Given the description of an element on the screen output the (x, y) to click on. 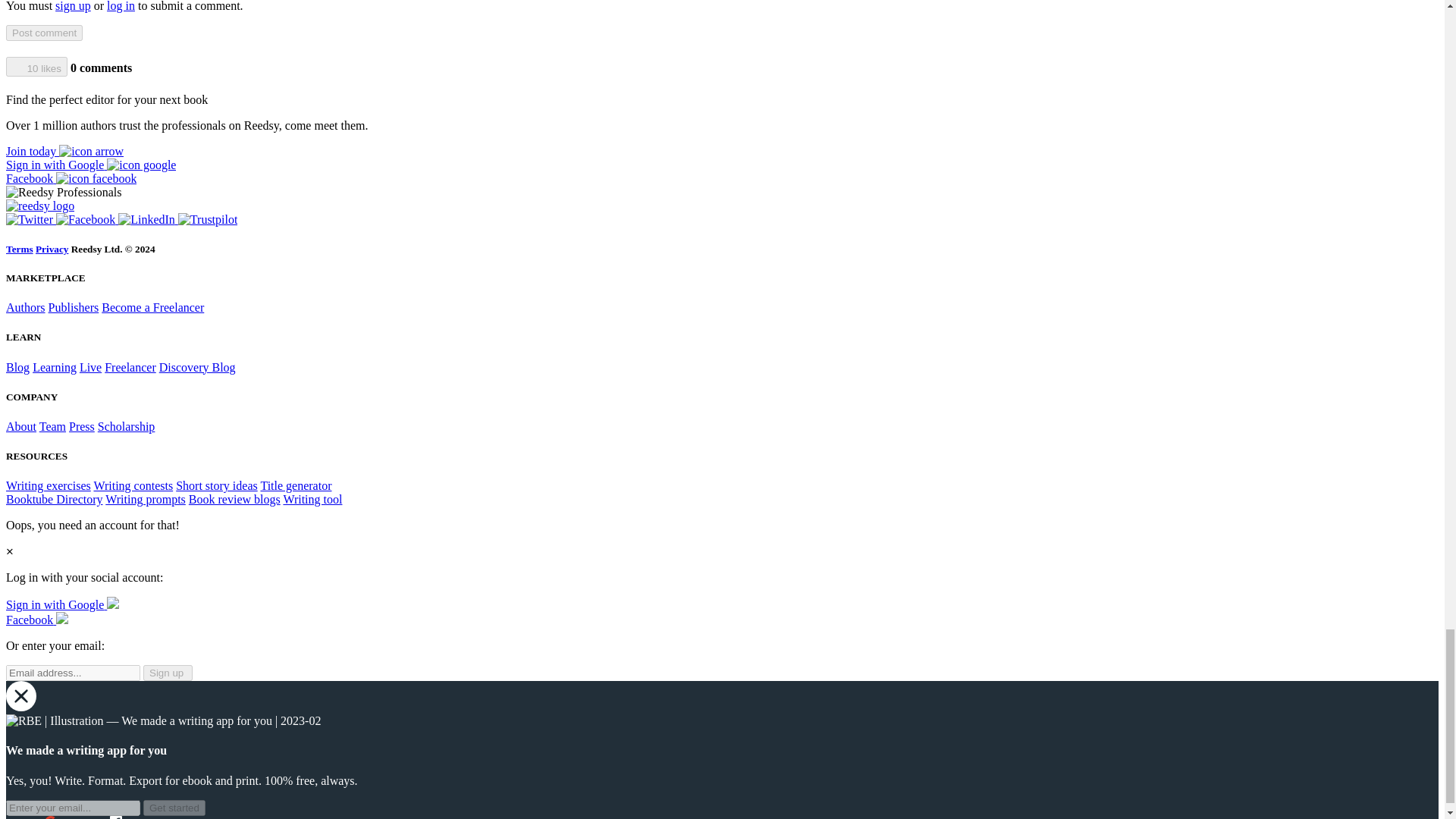
Post comment (43, 32)
Sign in with Google (90, 164)
Trustpilot (207, 219)
Get started (173, 807)
Sign in with Facebook (70, 178)
Sign in with Google (62, 604)
Twitter (30, 219)
Sign up  (167, 672)
Facebook (86, 219)
Sign in with Facebook (36, 619)
